Given the description of an element on the screen output the (x, y) to click on. 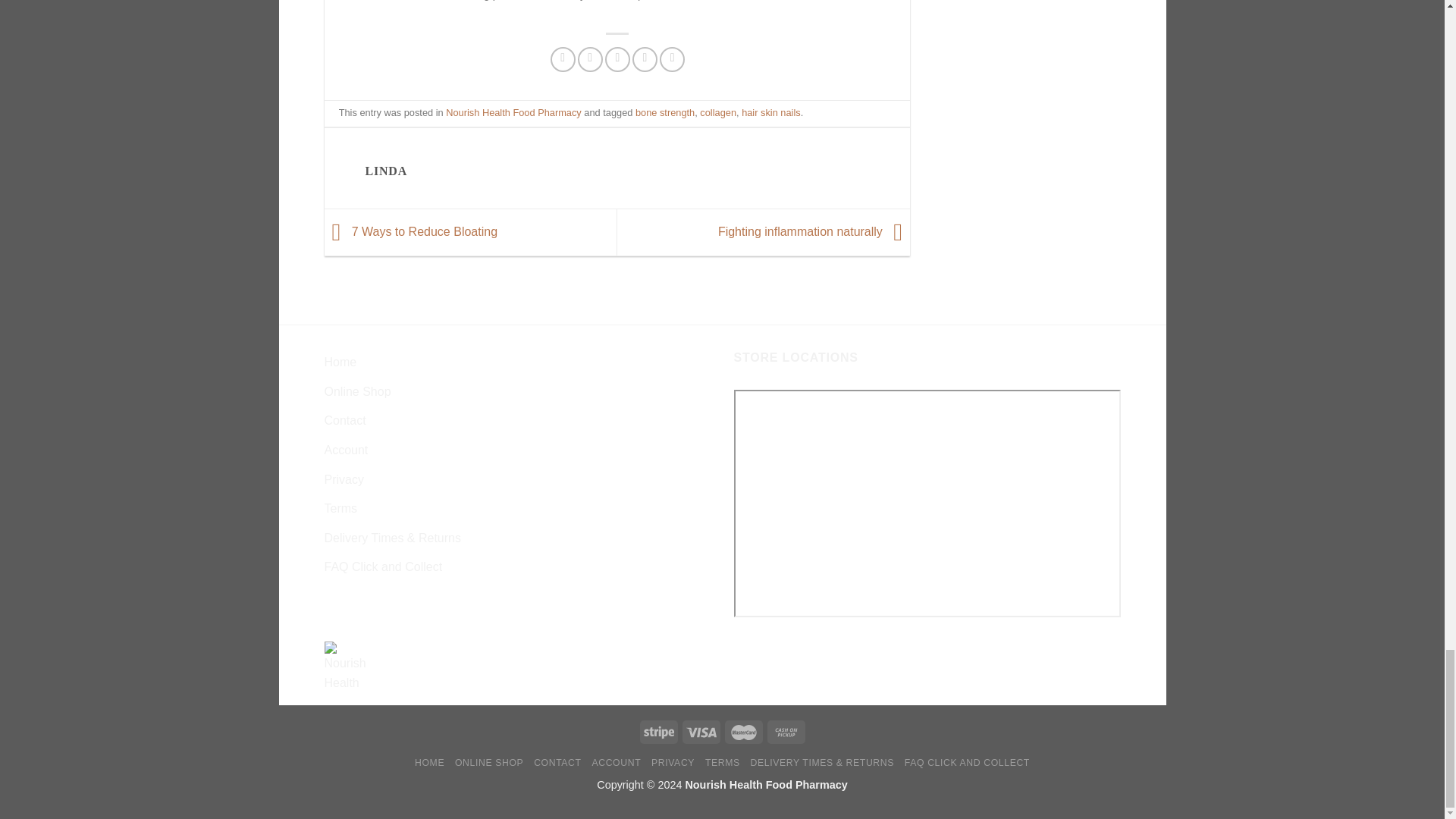
Share on Twitter (590, 59)
Pin on Pinterest (644, 59)
Share on LinkedIn (671, 59)
Share on Facebook (562, 59)
Email to a Friend (617, 59)
